Given the description of an element on the screen output the (x, y) to click on. 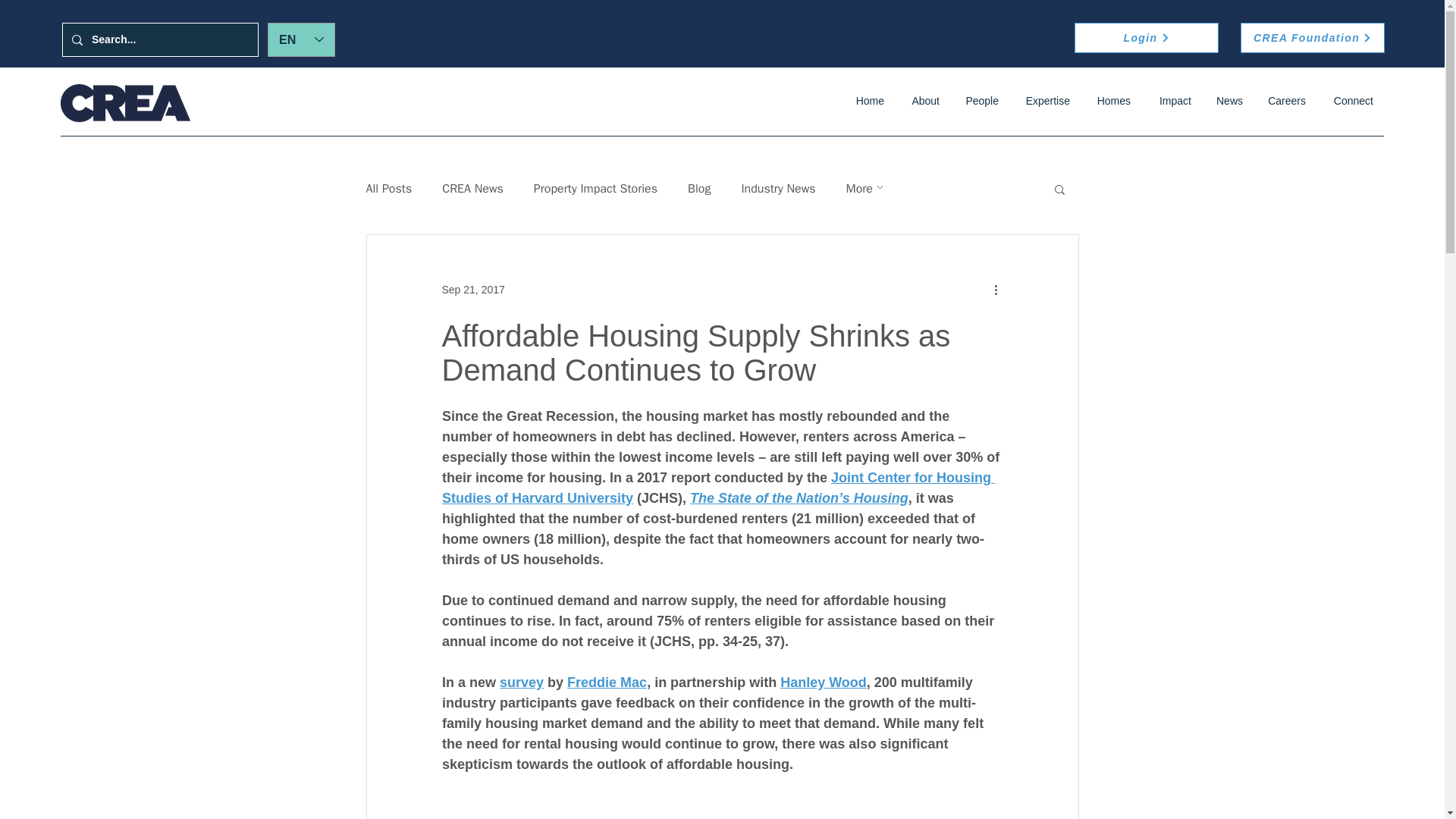
Blog (698, 188)
Sep 21, 2017 (472, 289)
Joint Center for Housing Studies of Harvard University (717, 488)
Expertise (1045, 100)
News (1227, 100)
People (980, 100)
Impact (1171, 100)
CREA News (472, 188)
Home (867, 100)
Connect (1350, 100)
